Given the description of an element on the screen output the (x, y) to click on. 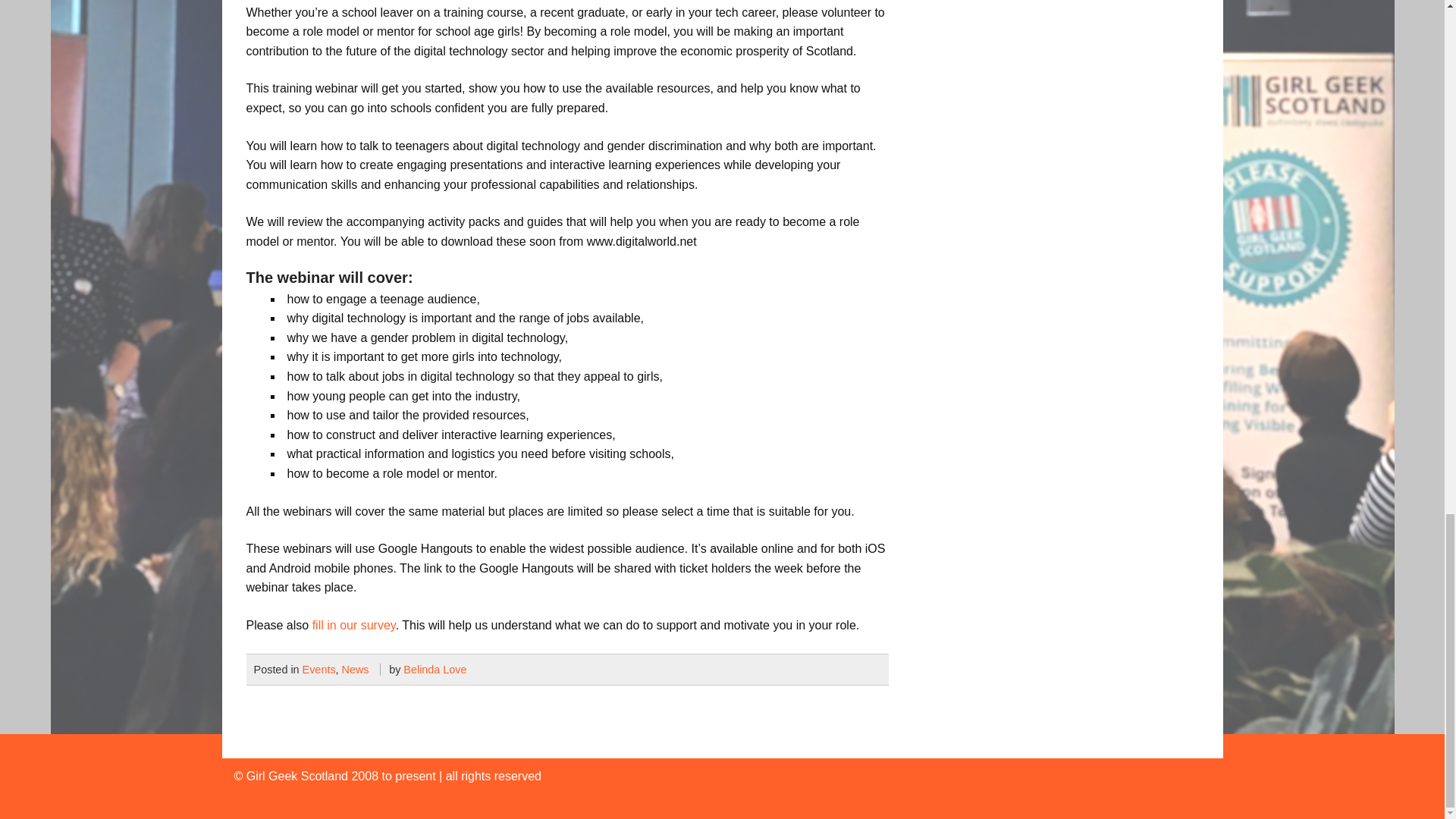
View all posts by Belinda Love (434, 669)
fill in our survey (354, 625)
News (355, 669)
Events (319, 669)
Belinda Love (434, 669)
